Given the description of an element on the screen output the (x, y) to click on. 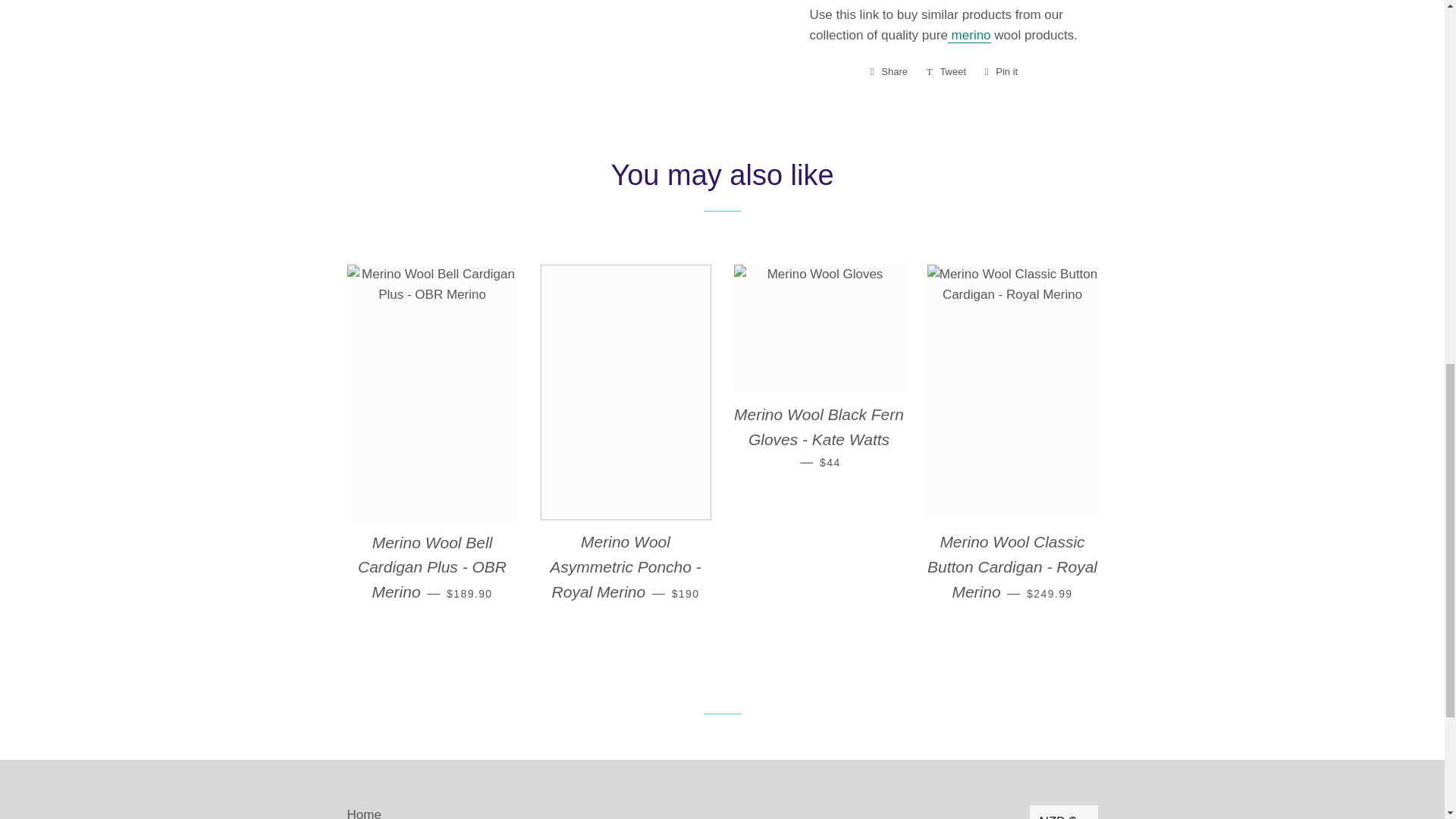
Pin on Pinterest (1000, 71)
Tweet on Twitter (946, 71)
Share on Facebook (889, 71)
Pure merino (969, 35)
